Given the description of an element on the screen output the (x, y) to click on. 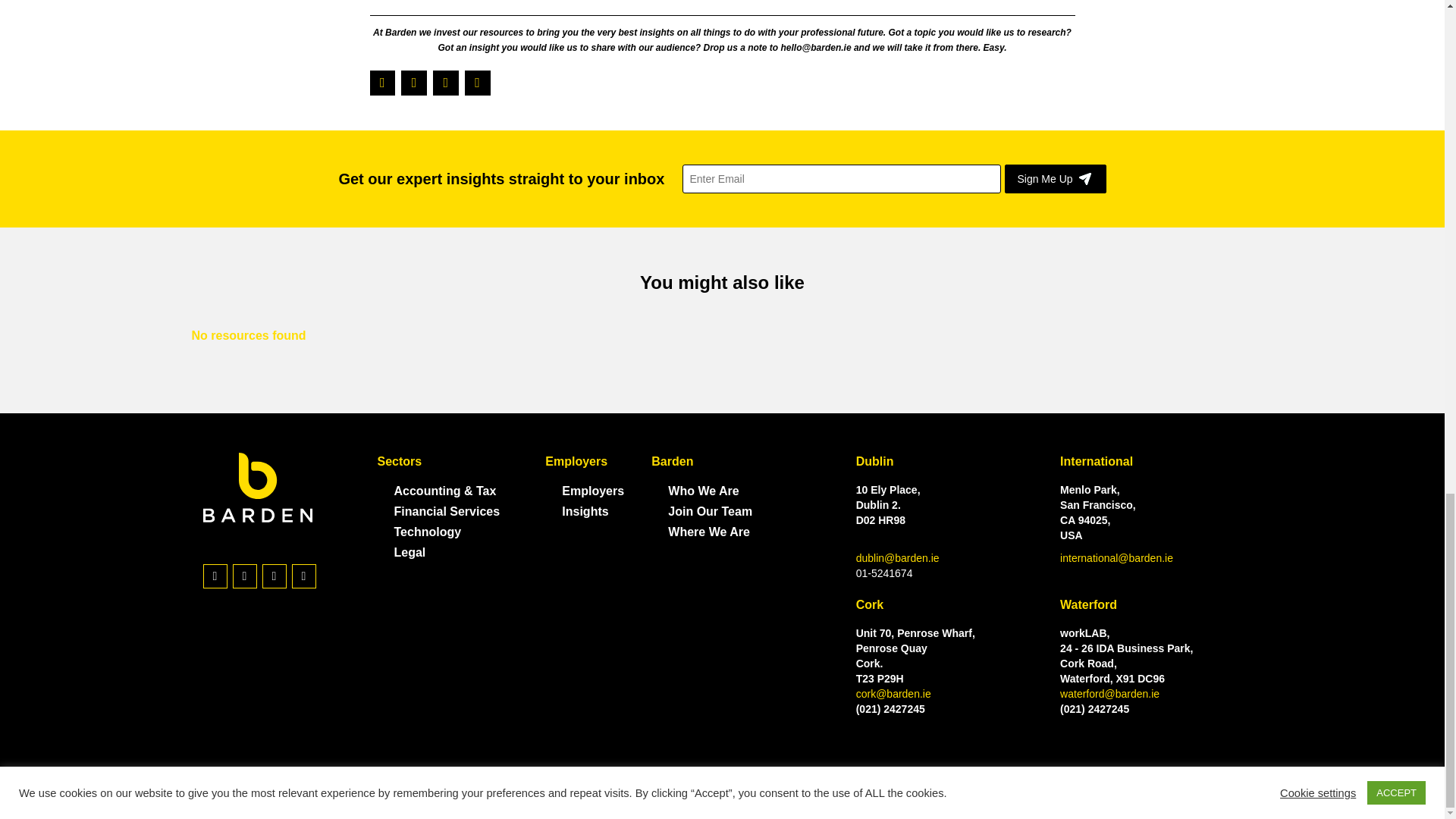
Sign Me Up (1054, 178)
